Given the description of an element on the screen output the (x, y) to click on. 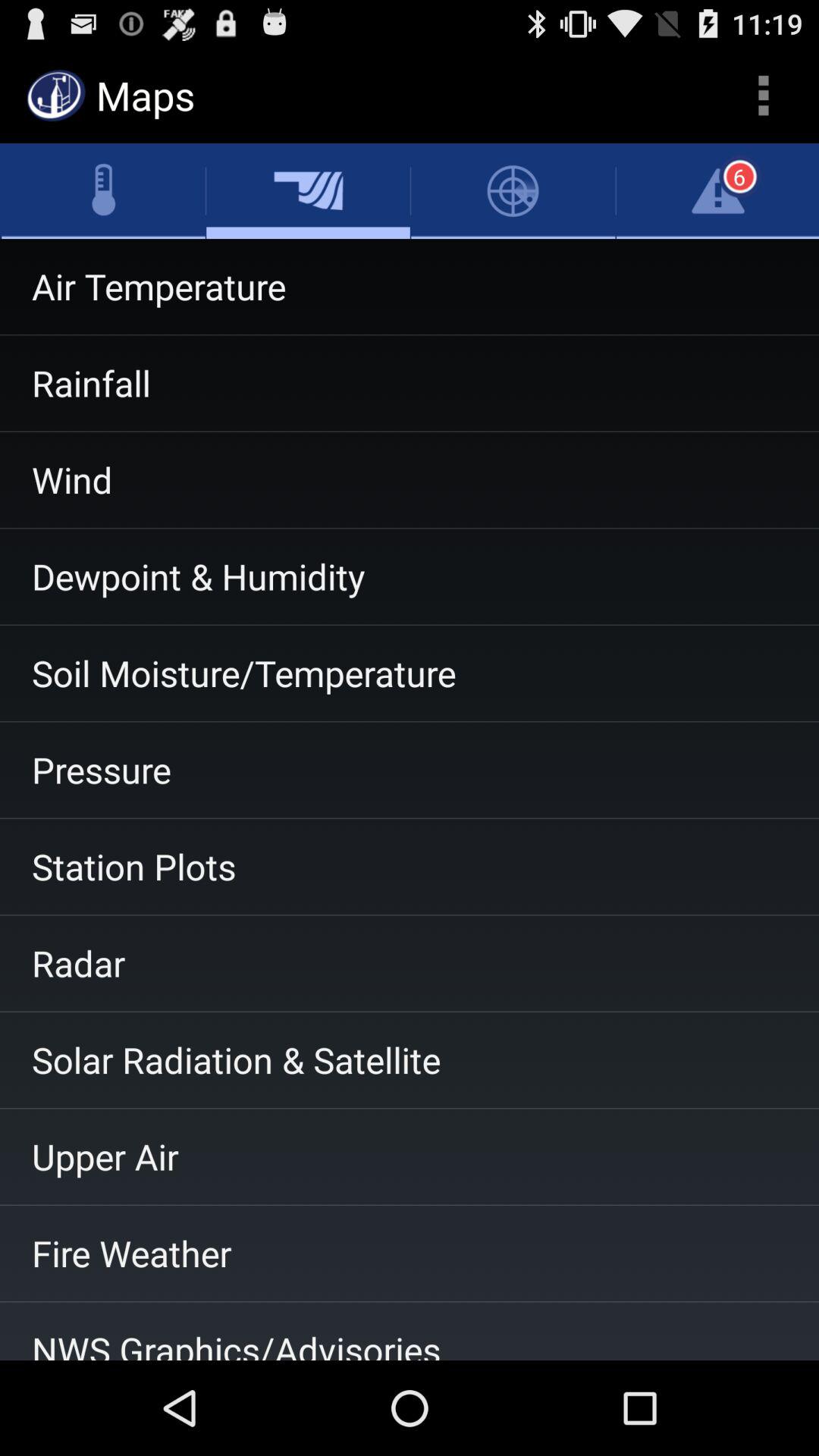
launch the dewpoint & humidity item (409, 576)
